Given the description of an element on the screen output the (x, y) to click on. 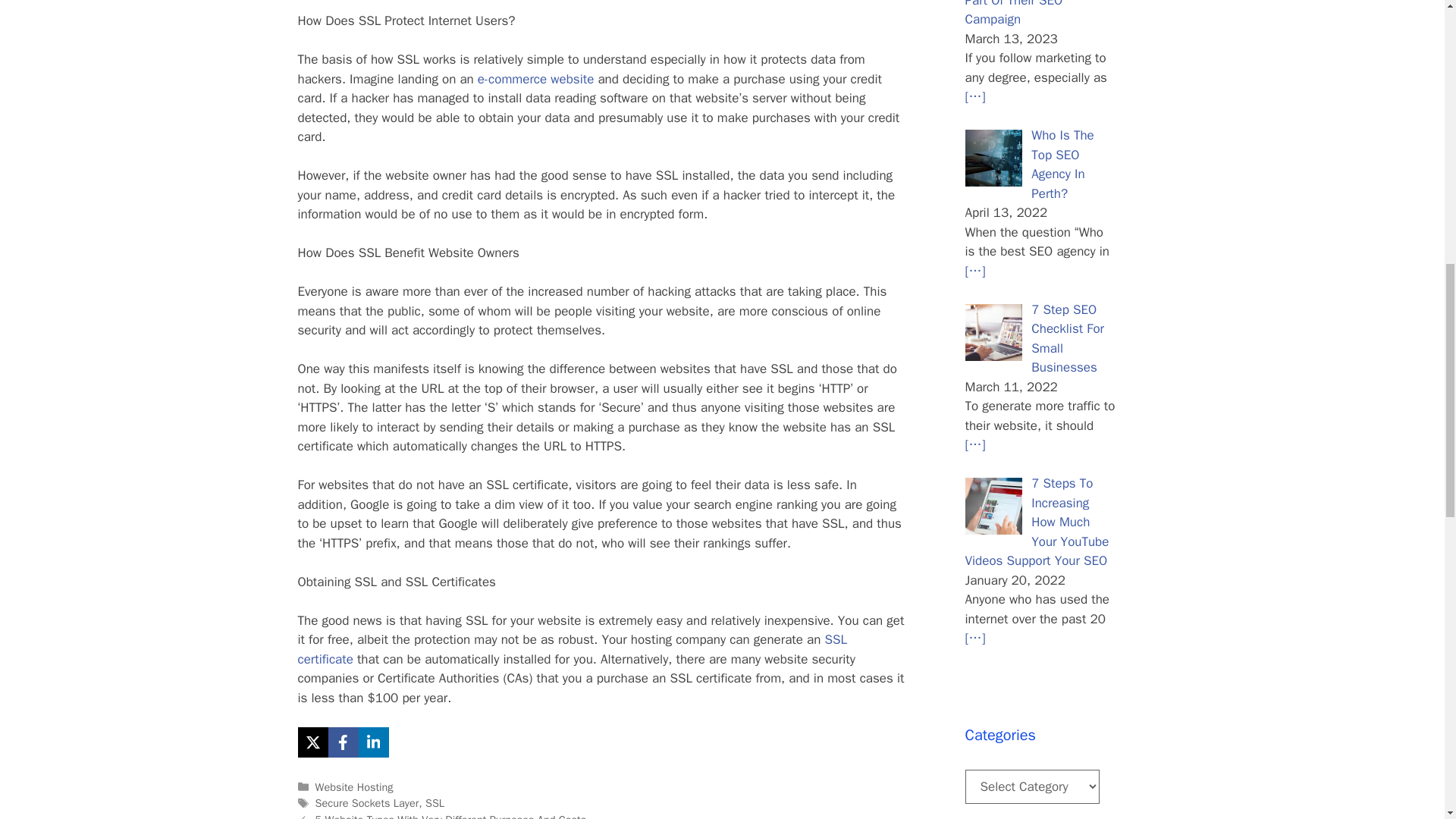
Website Hosting (354, 786)
e-commerce website (535, 78)
SSL certificate (572, 649)
